Given the description of an element on the screen output the (x, y) to click on. 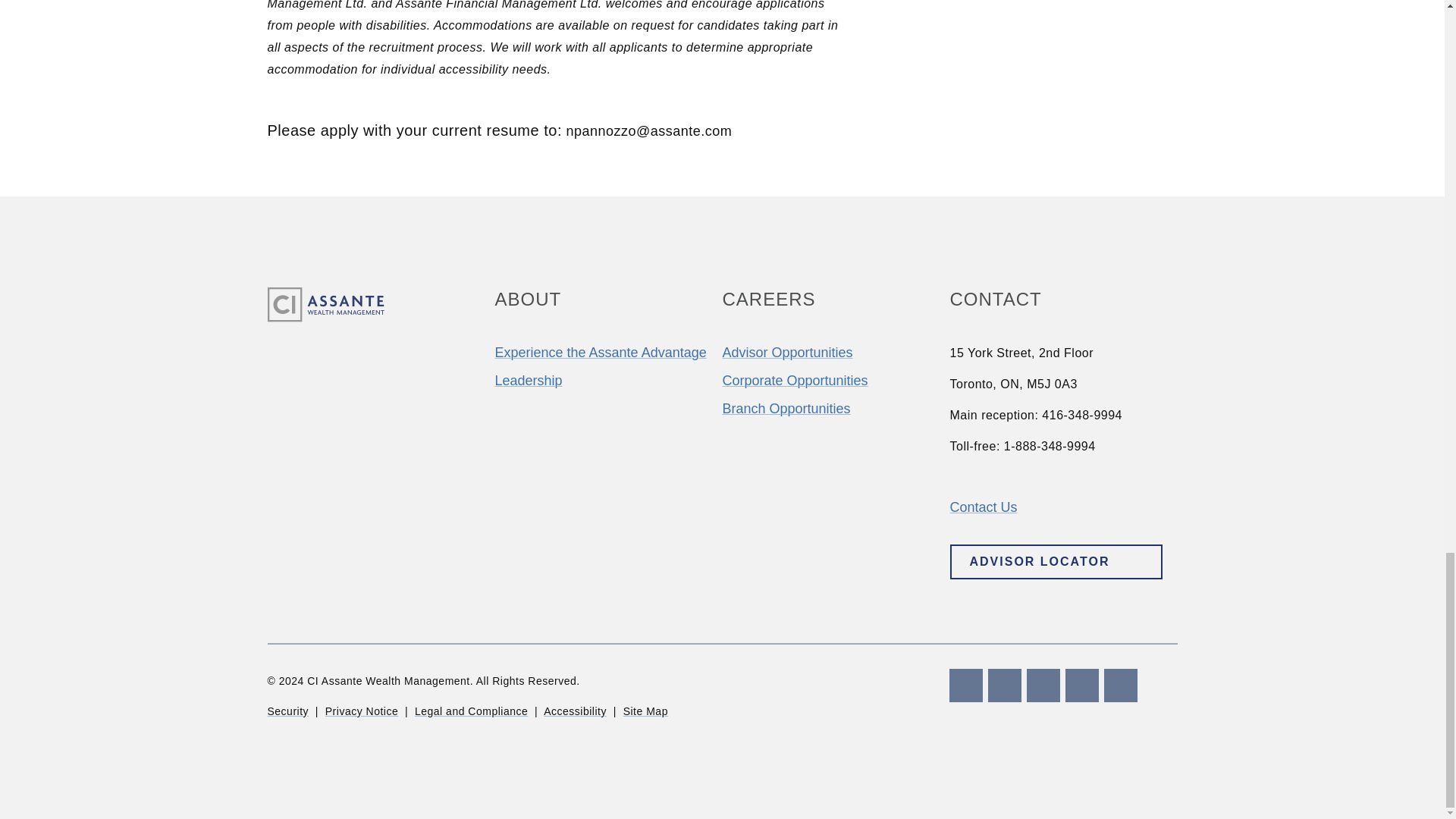
Security (287, 711)
Experience the Assante Advantage (600, 352)
Assante Logo (325, 304)
Leadership (528, 380)
Branch Opportunities (786, 408)
Privacy Notice (360, 711)
Corporate Opportunities (794, 380)
Be Well Supported (786, 352)
Contact Us (982, 507)
